Given the description of an element on the screen output the (x, y) to click on. 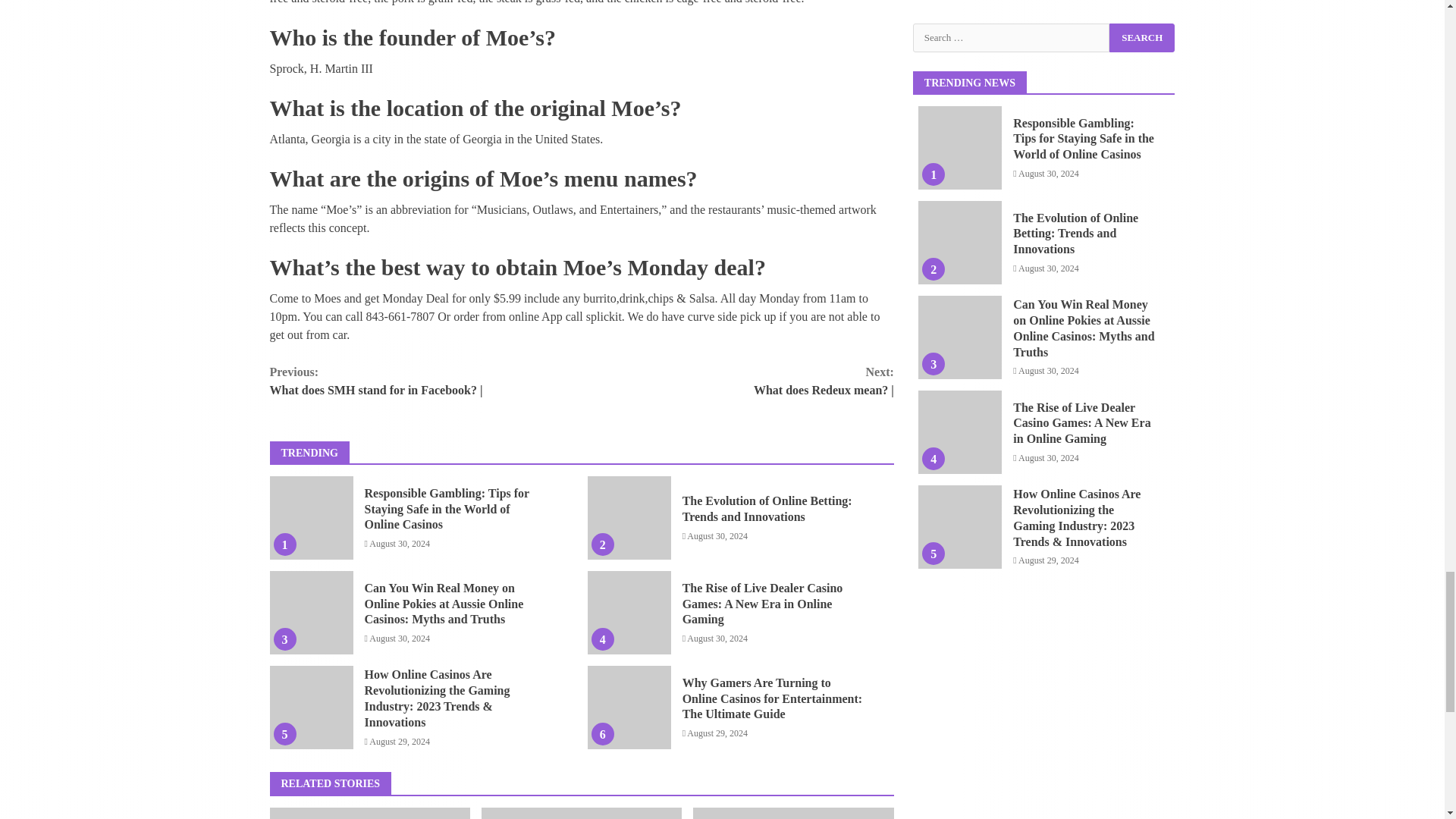
The Evolution of Online Betting: Trends and Innovations (629, 517)
